Given the description of an element on the screen output the (x, y) to click on. 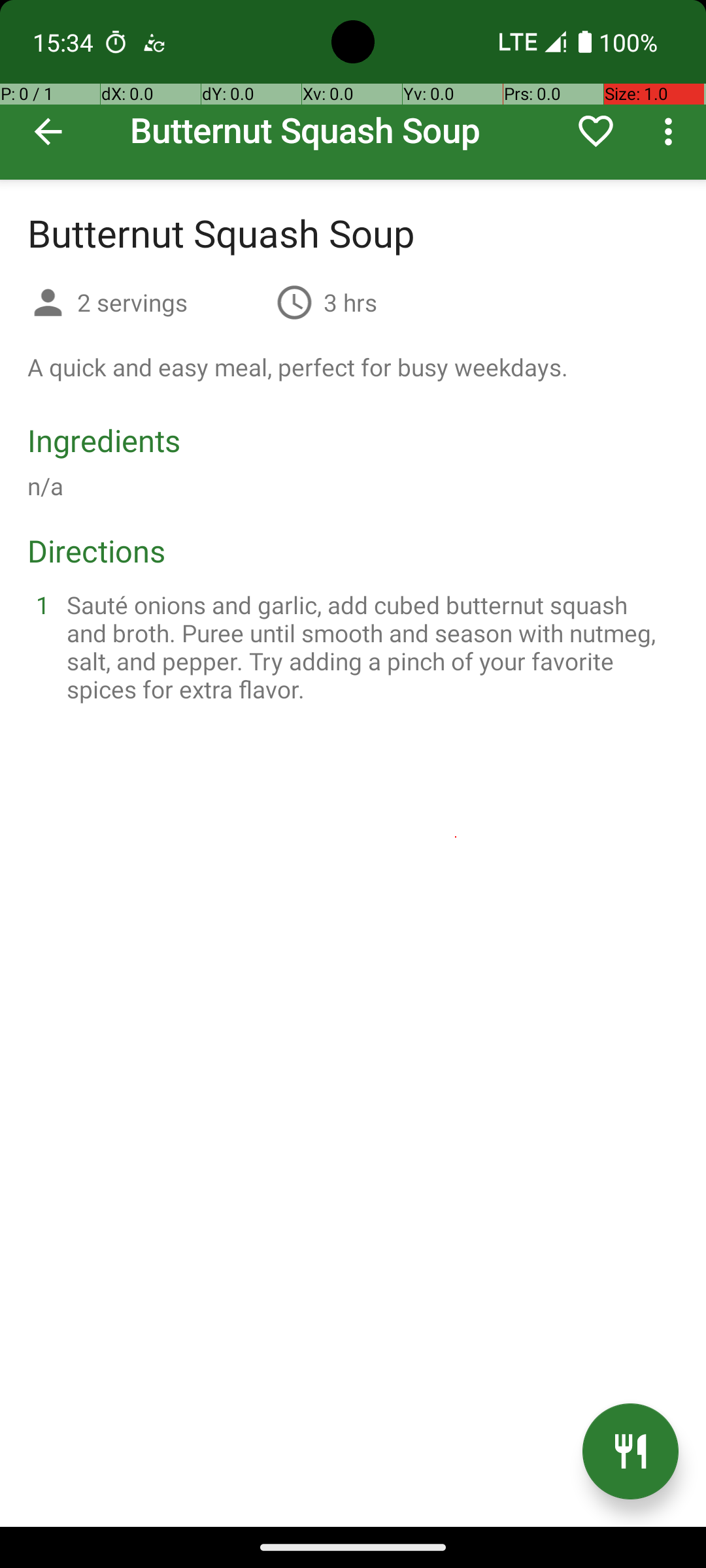
n/a Element type: android.widget.TextView (45, 485)
Sauté onions and garlic, add cubed butternut squash and broth. Puree until smooth and season with nutmeg, salt, and pepper. Try adding a pinch of your favorite spices for extra flavor. Element type: android.widget.TextView (368, 646)
